Given the description of an element on the screen output the (x, y) to click on. 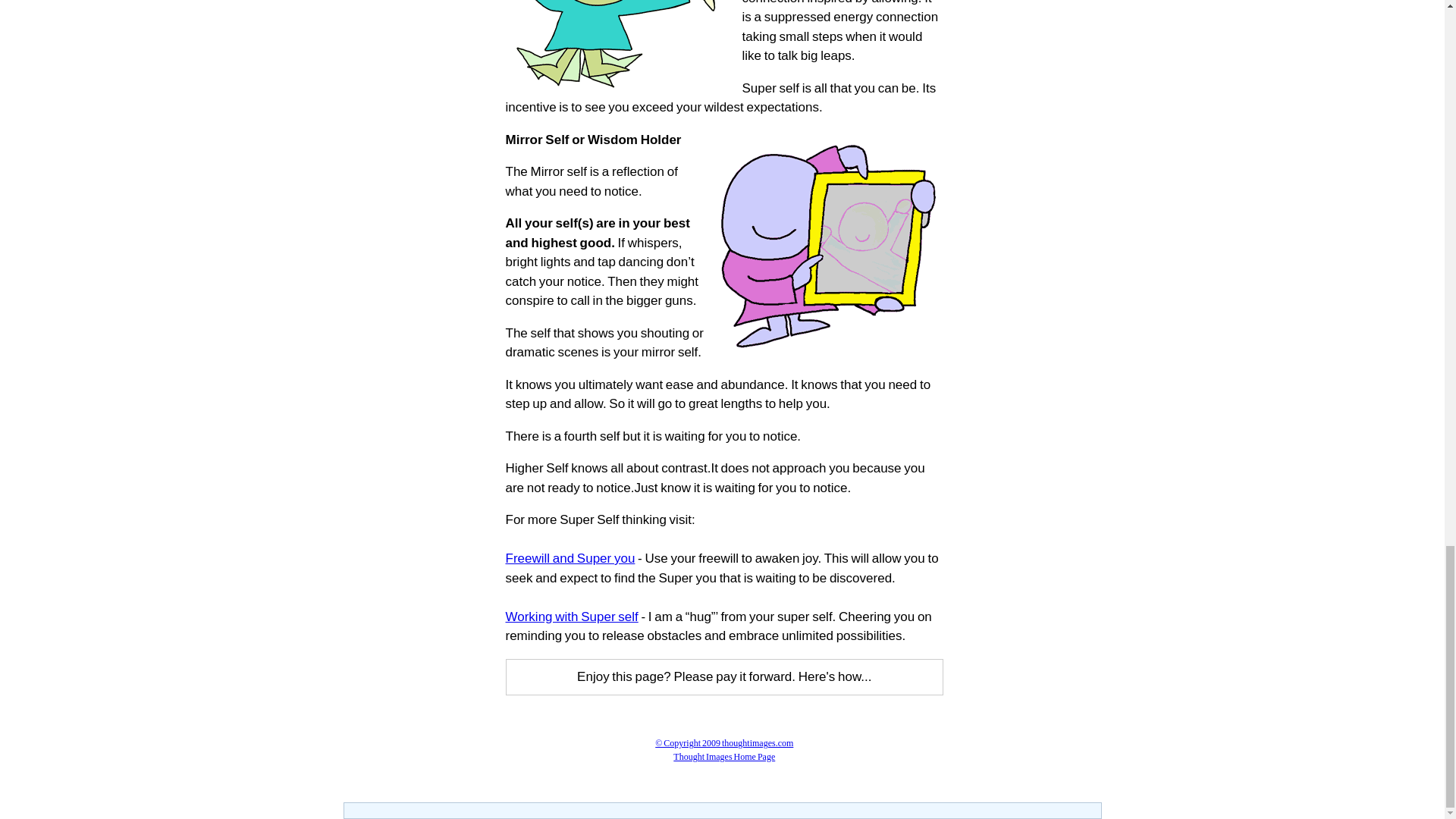
Working with Super self (571, 616)
wisdom holder reflection of self (829, 244)
Freewill and Super you (569, 558)
super self tap dancing (618, 45)
